Given the description of an element on the screen output the (x, y) to click on. 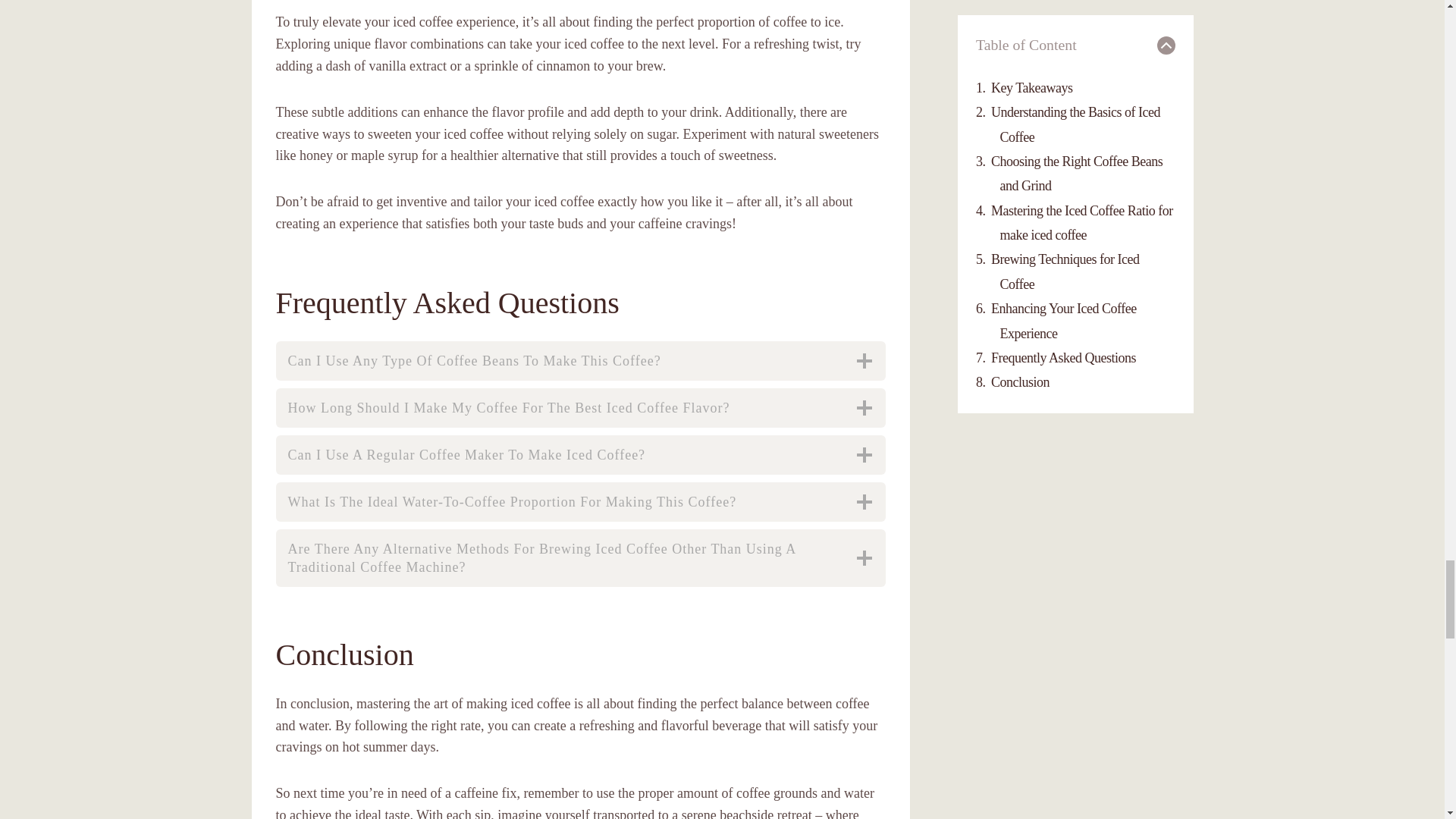
Can I Use A Regular Coffee Maker To Make Iced Coffee? (581, 454)
Can I Use Any Type Of Coffee Beans To Make This Coffee? (581, 360)
